Given the description of an element on the screen output the (x, y) to click on. 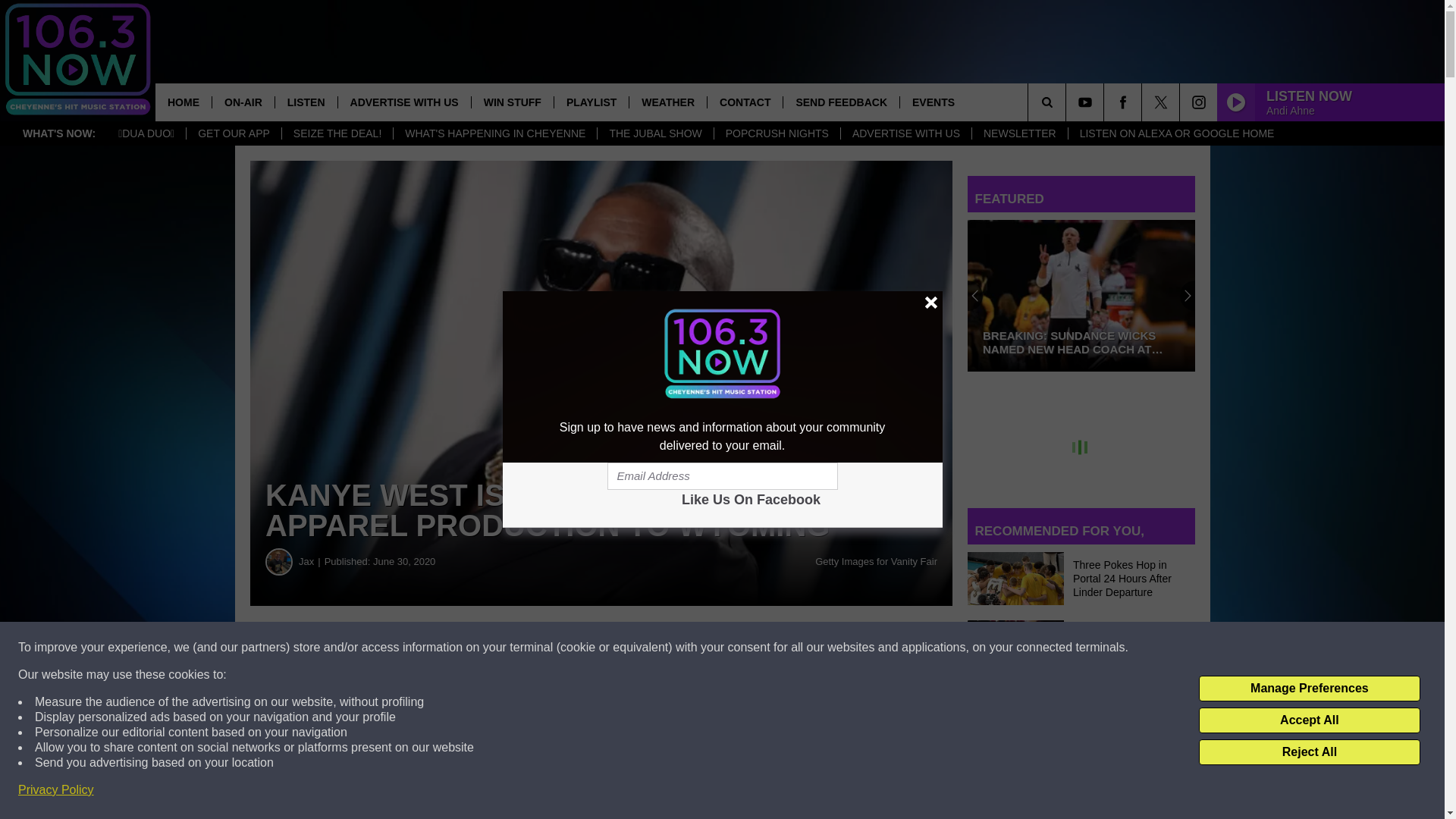
THE JUBAL SHOW (654, 133)
SEIZE THE DEAL! (337, 133)
WHAT'S HAPPENING IN CHEYENNE (494, 133)
LISTEN ON ALEXA OR GOOGLE HOME (1176, 133)
Accept All (1309, 720)
Reject All (1309, 751)
ADVERTISE WITH US (905, 133)
ADVERTISE WITH US (403, 102)
SEARCH (1068, 102)
WIN STUFF (511, 102)
NEWSLETTER (1019, 133)
WHAT'S NOW: (58, 133)
GET OUR APP (233, 133)
ON-AIR (243, 102)
HOME (183, 102)
